Given the description of an element on the screen output the (x, y) to click on. 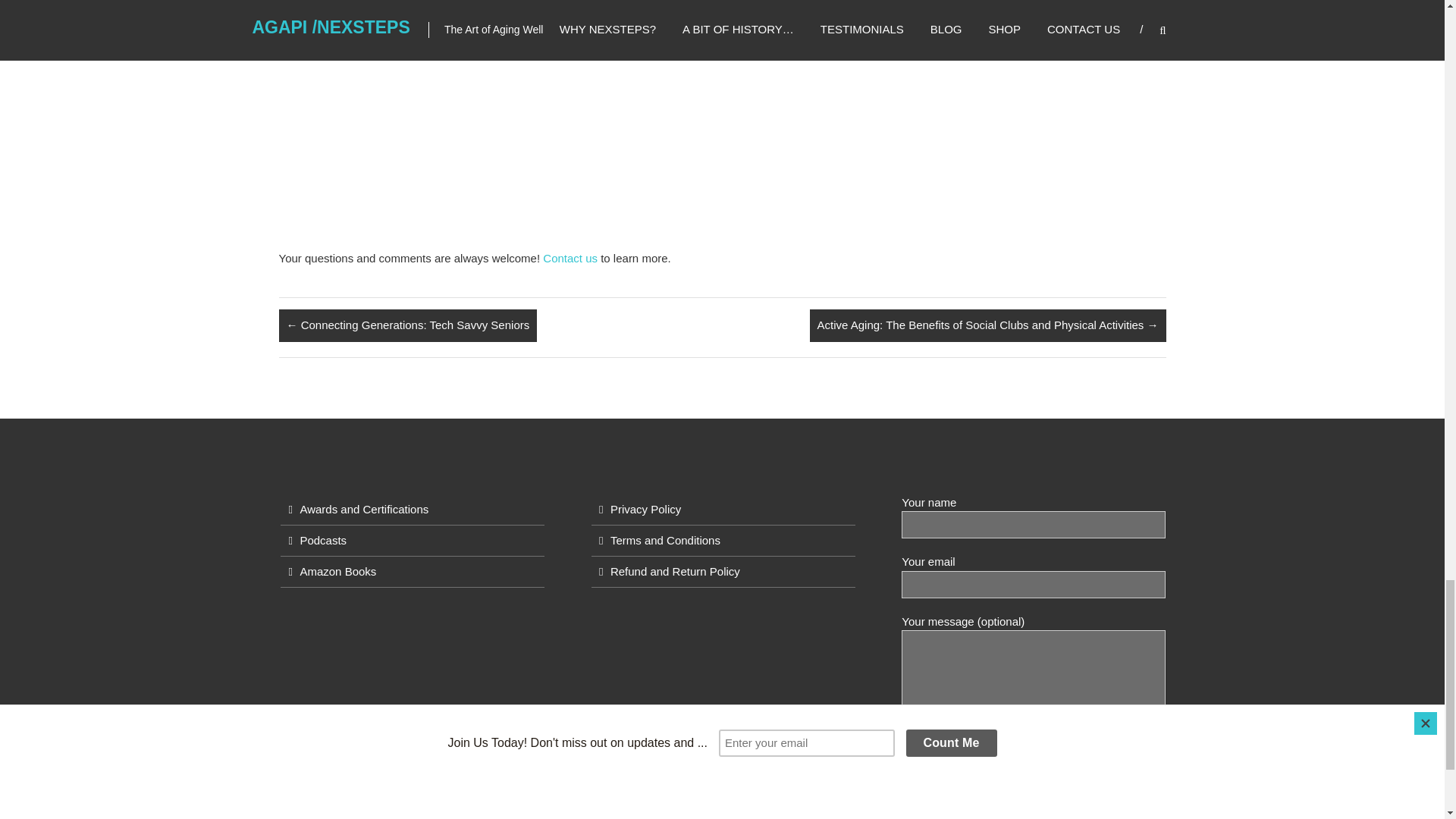
Submit (929, 781)
